Given the description of an element on the screen output the (x, y) to click on. 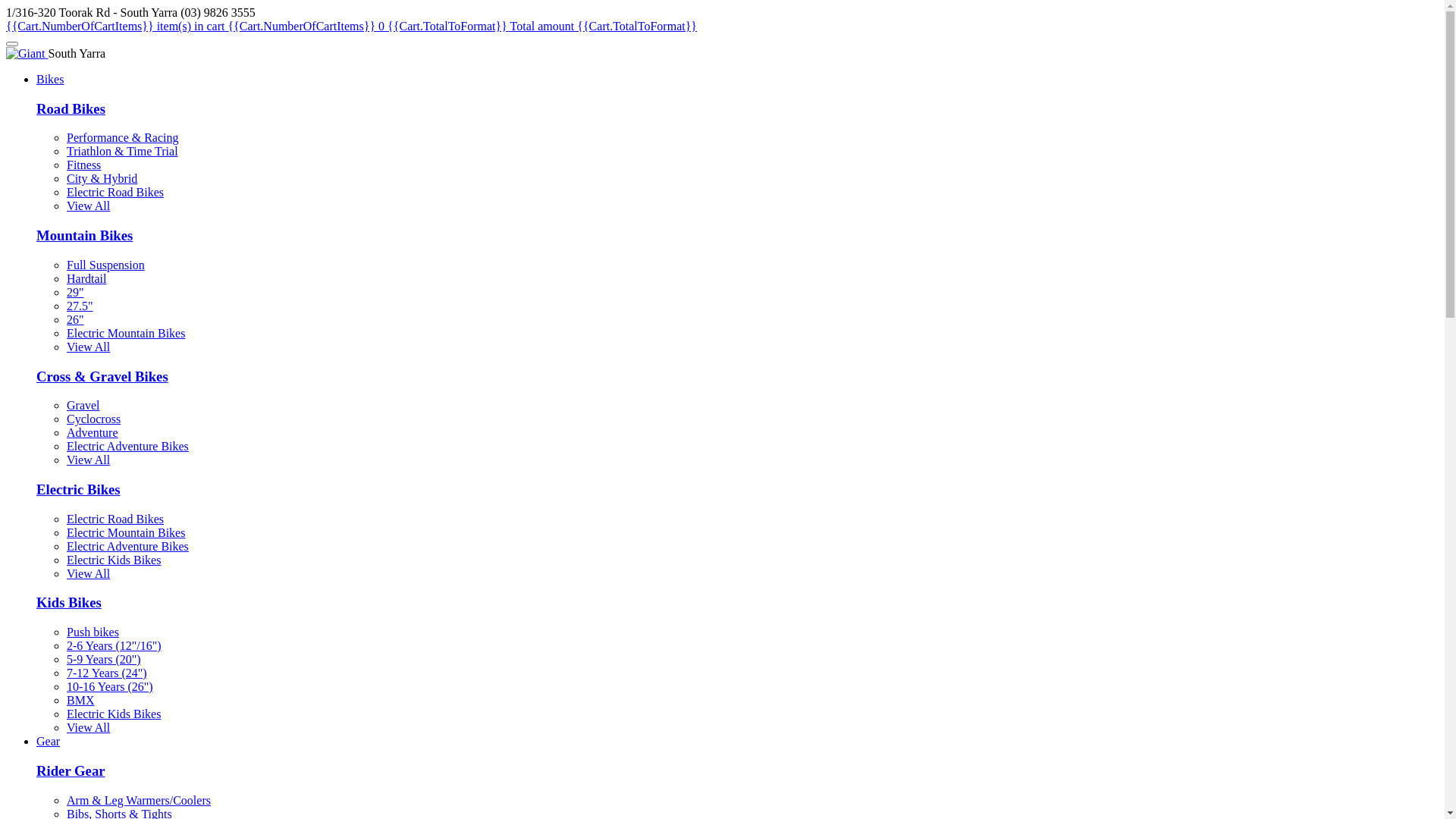
26" Element type: text (75, 319)
Bikes Element type: text (49, 78)
Cross & Gravel Bikes Element type: text (102, 376)
5-9 Years (20") Element type: text (103, 658)
Road Bikes Element type: text (70, 108)
Electric Kids Bikes Element type: text (113, 713)
2-6 Years (12"/16") Element type: text (113, 645)
Electric Adventure Bikes Element type: text (127, 445)
Adventure Element type: text (92, 432)
BMX Element type: text (80, 699)
Electric Mountain Bikes Element type: text (125, 332)
City & Hybrid Element type: text (101, 178)
Mountain Bikes Element type: text (84, 235)
10-16 Years (26") Element type: text (109, 686)
Push bikes Element type: text (92, 631)
Electric Adventure Bikes Element type: text (127, 545)
View All Element type: text (87, 573)
29" Element type: text (75, 291)
View All Element type: text (87, 459)
Gravel Element type: text (83, 404)
Performance & Racing Element type: text (122, 137)
Full Suspension Element type: text (105, 264)
Arm & Leg Warmers/Coolers Element type: text (138, 799)
Triathlon & Time Trial Element type: text (122, 150)
27.5" Element type: text (79, 305)
Electric Road Bikes Element type: text (114, 191)
Cyclocross Element type: text (93, 418)
Electric Road Bikes Element type: text (114, 518)
View All Element type: text (87, 727)
Hardtail Element type: text (86, 278)
View All Element type: text (87, 346)
Electric Bikes Element type: text (78, 489)
Kids Bikes Element type: text (68, 602)
Rider Gear Element type: text (70, 770)
Electric Kids Bikes Element type: text (113, 559)
Gear Element type: text (47, 740)
Electric Mountain Bikes Element type: text (125, 532)
7-12 Years (24") Element type: text (106, 672)
View All Element type: text (87, 205)
Fitness Element type: text (83, 164)
